Given the description of an element on the screen output the (x, y) to click on. 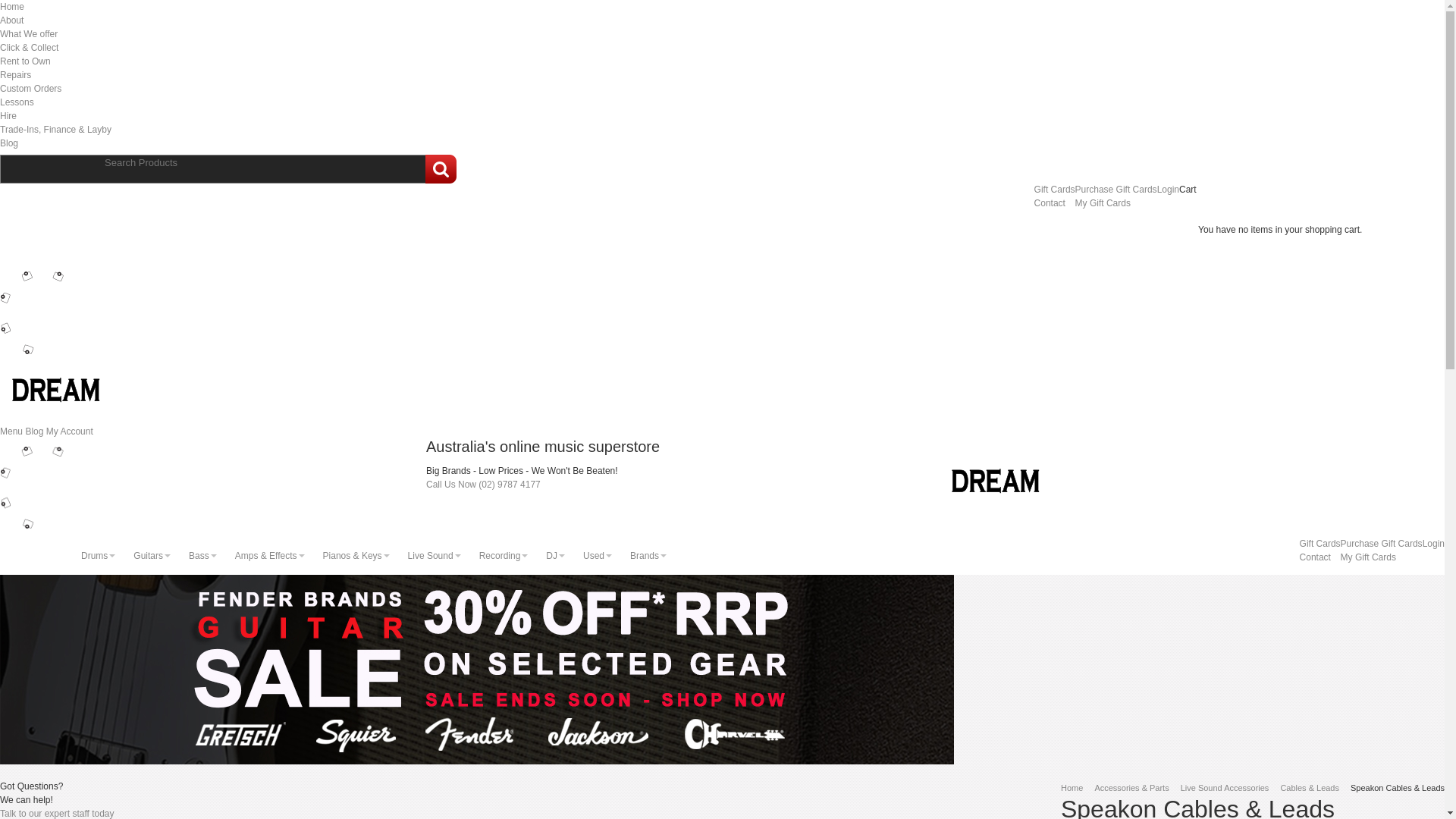
Login Element type: text (1168, 189)
Lessons Element type: text (17, 102)
Live Sound  Element type: text (434, 555)
Dream Music Element type: hover (1034, 452)
Pianos & Keys  Element type: text (355, 555)
Purchase Gift Cards Element type: text (1116, 189)
Contact Element type: text (1049, 202)
My Gift Cards Element type: text (1102, 202)
Hire Element type: text (8, 115)
Custom Orders Element type: text (30, 88)
Accessories & Parts Element type: text (1131, 787)
Gift Cards Element type: text (1054, 189)
Contact Element type: text (1314, 557)
Repairs Element type: text (15, 74)
Gift Cards Element type: text (1319, 543)
Blog Element type: text (9, 143)
DJ  Element type: text (555, 555)
Drummers Dream & Dream Music Element type: hover (83, 487)
Purchase Gift Cards Element type: text (1381, 543)
Used  Element type: text (597, 555)
Drums  Element type: text (98, 555)
Trade-Ins, Finance & Layby Element type: text (55, 129)
Guitars  Element type: text (152, 555)
Recording  Element type: text (503, 555)
What We offer Element type: text (28, 33)
Call Us Now (02) 9787 4177 Element type: text (483, 484)
Home Element type: text (1071, 787)
My Account Element type: text (69, 431)
About Element type: text (11, 20)
Blog Element type: text (35, 431)
Drummers Dream & Dream Music Element type: hover (83, 277)
Rent to Own Element type: text (25, 61)
Home Element type: text (12, 6)
Go Element type: text (440, 168)
Live Sound Accessories Element type: text (1224, 787)
Login Element type: text (1433, 543)
Cart   Element type: text (1190, 189)
Dream Music Element type: hover (94, 361)
Cables & Leads Element type: text (1309, 787)
Click & Collect Element type: text (29, 47)
Menu Element type: text (12, 431)
Bass  Element type: text (202, 555)
Brands  Element type: text (648, 555)
Amps & Effects  Element type: text (269, 555)
My Gift Cards Element type: text (1368, 557)
